Given the description of an element on the screen output the (x, y) to click on. 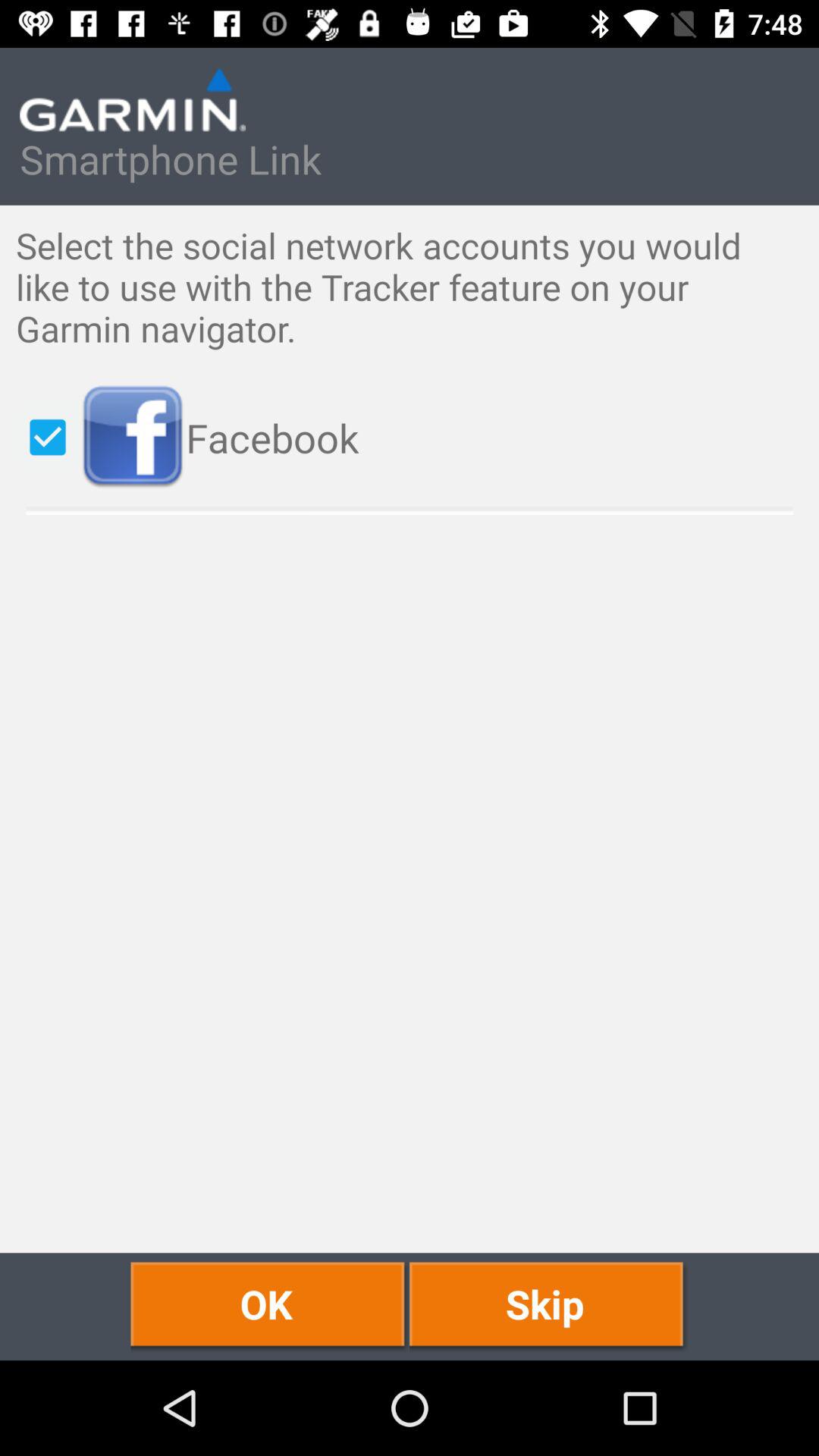
jump to ok (269, 1306)
